Given the description of an element on the screen output the (x, y) to click on. 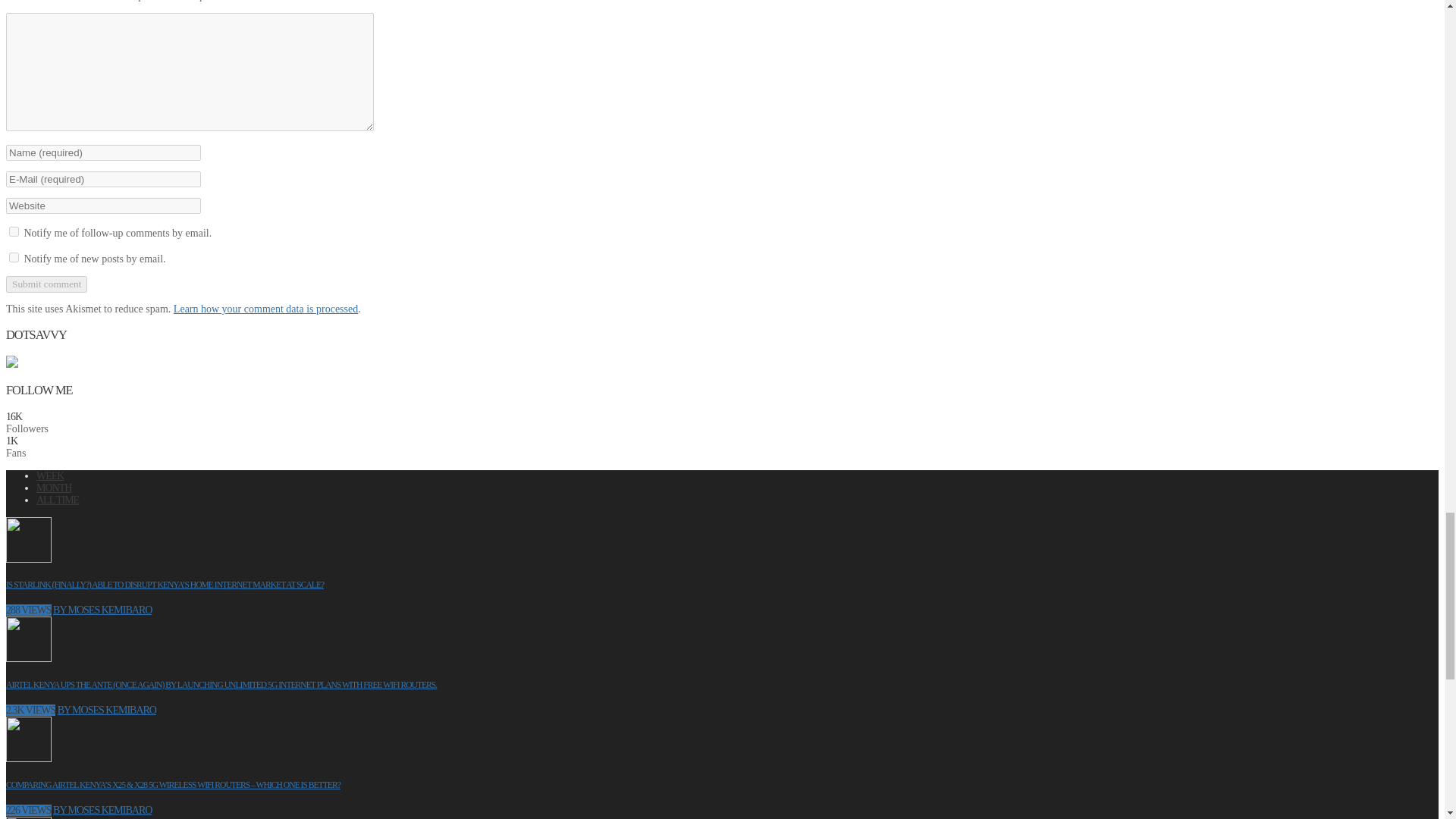
subscribe (13, 231)
Submit comment (46, 284)
subscribe (13, 257)
